Given the description of an element on the screen output the (x, y) to click on. 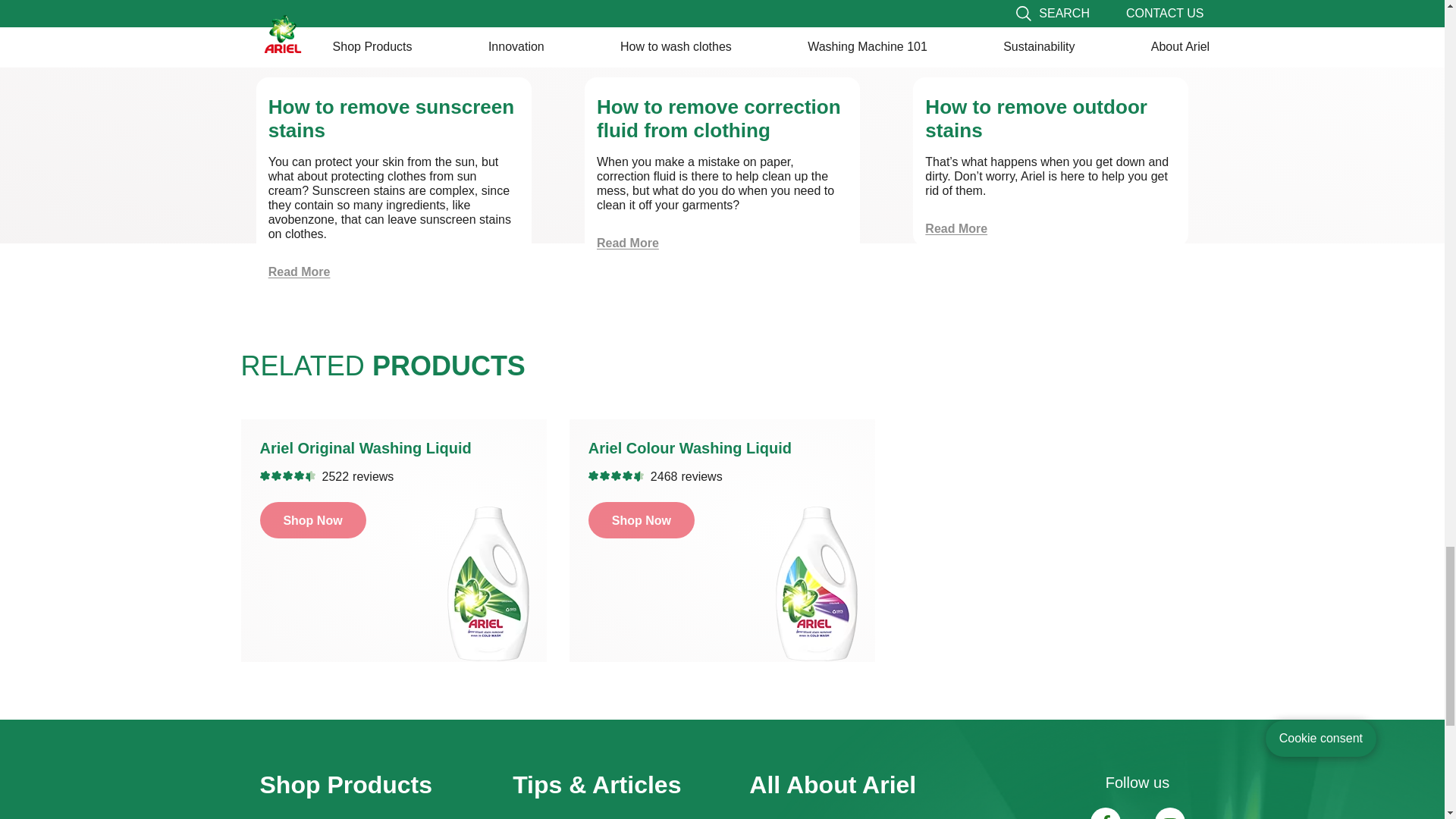
Group 2 (1169, 813)
Facebook (1105, 813)
